Given the description of an element on the screen output the (x, y) to click on. 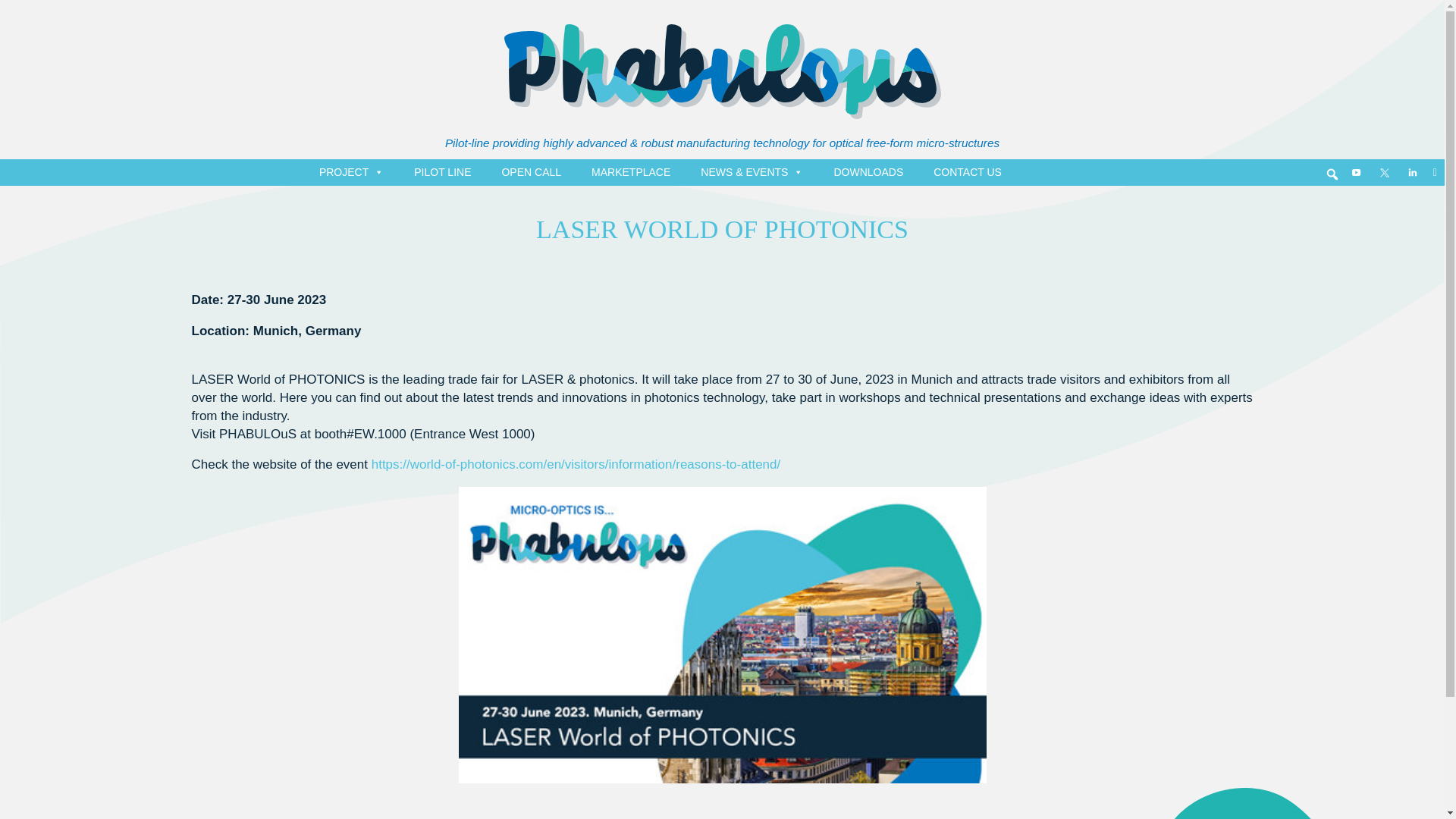
LASER WORLD OF PHOTONICS (721, 229)
PILOT LINE (442, 171)
DOWNLOADS (868, 171)
OPEN CALL (531, 171)
MARKETPLACE (630, 171)
PROJECT (351, 171)
Search (11, 8)
CONTACT US (967, 171)
LASER World of PHOTONICS (721, 229)
